Given the description of an element on the screen output the (x, y) to click on. 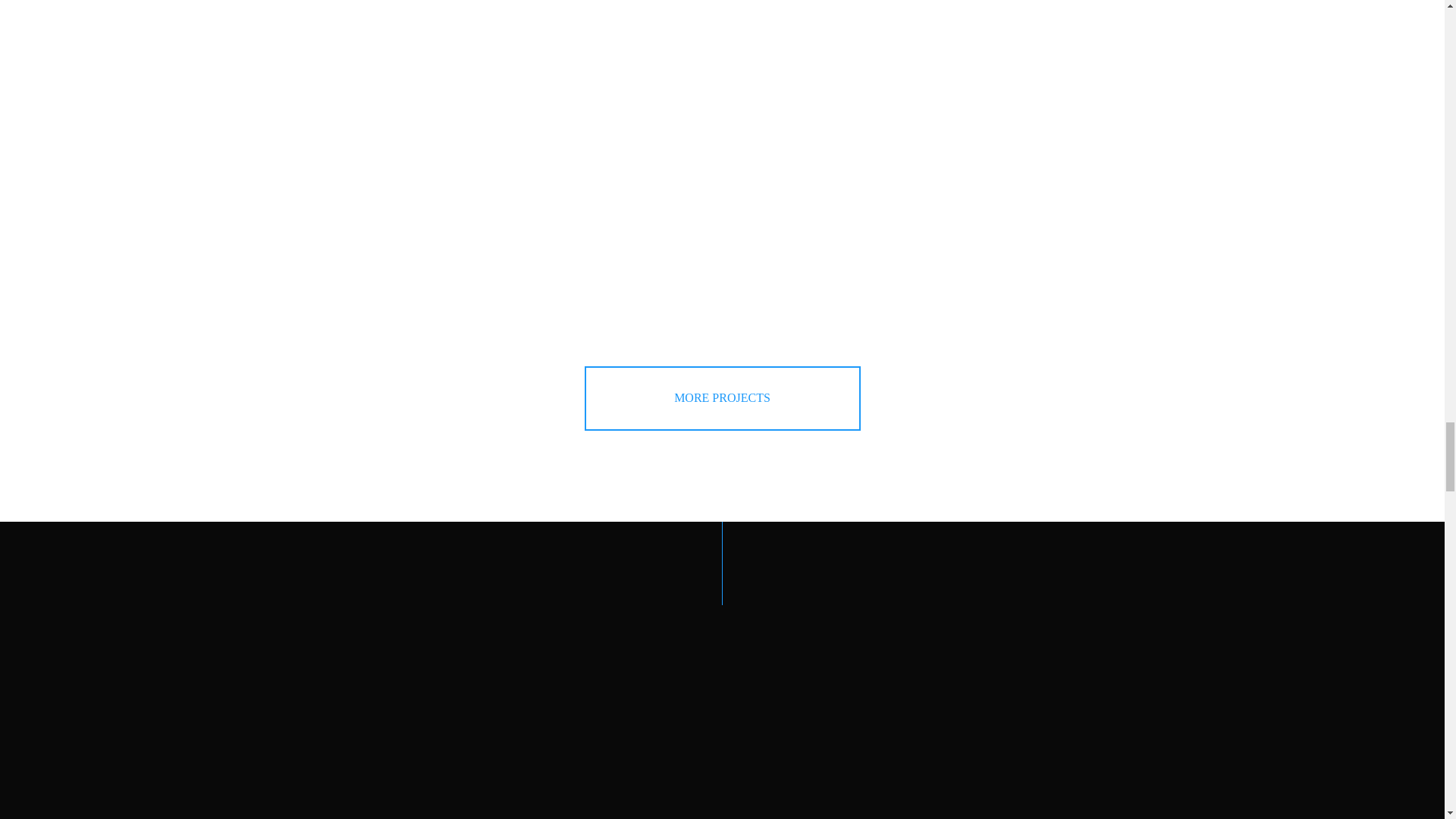
MORE PROJECTS (721, 398)
